Given the description of an element on the screen output the (x, y) to click on. 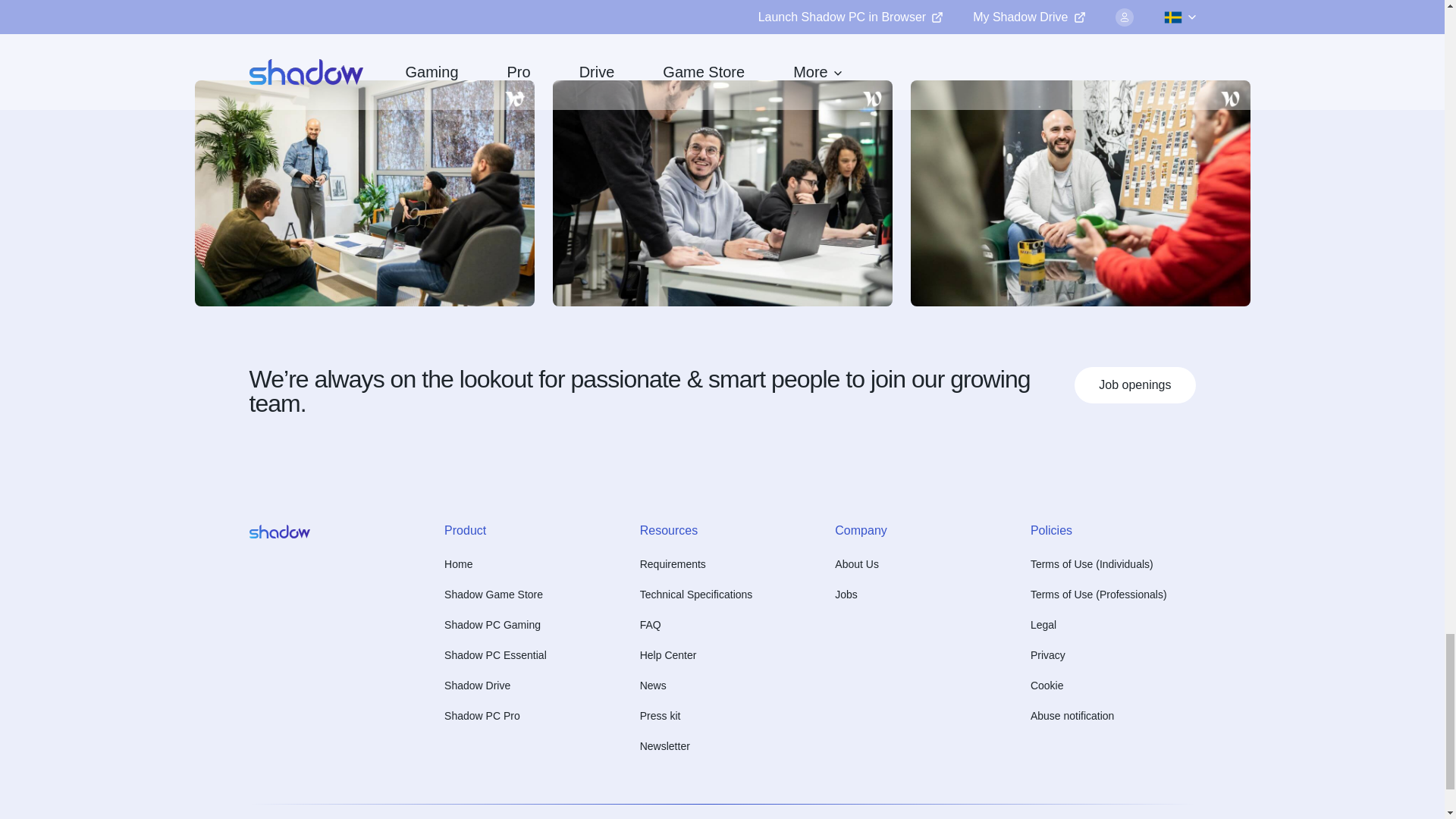
Job openings (1134, 384)
Home (457, 564)
Shadow PC Gaming (492, 625)
Shadow Game Store (493, 594)
